Given the description of an element on the screen output the (x, y) to click on. 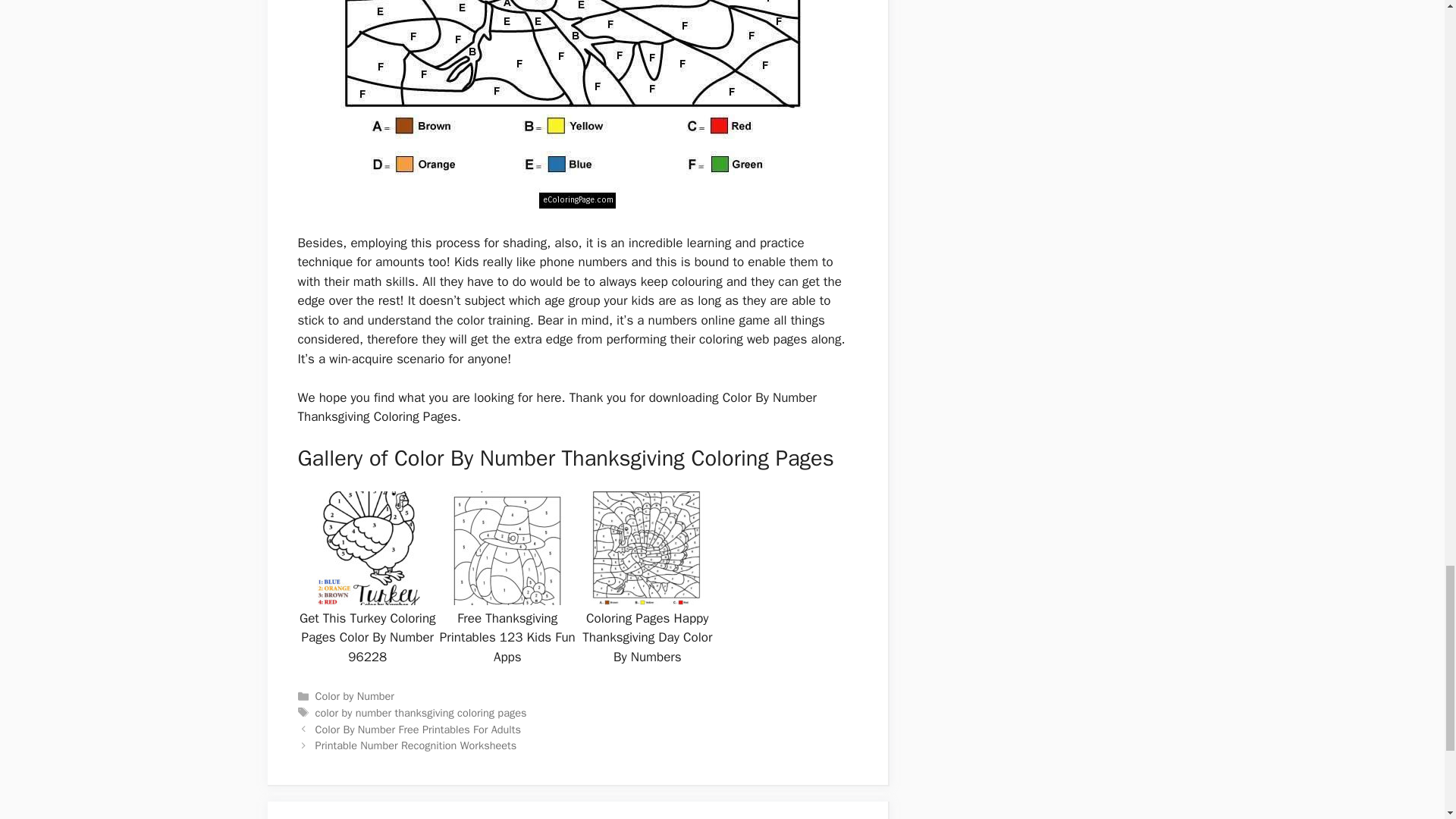
Next (415, 745)
Color by Number (354, 695)
Color By Number Free Printables For Adults (418, 729)
color by number thanksgiving coloring pages (421, 712)
Previous (418, 729)
Printable Number Recognition Worksheets (415, 745)
